Given the description of an element on the screen output the (x, y) to click on. 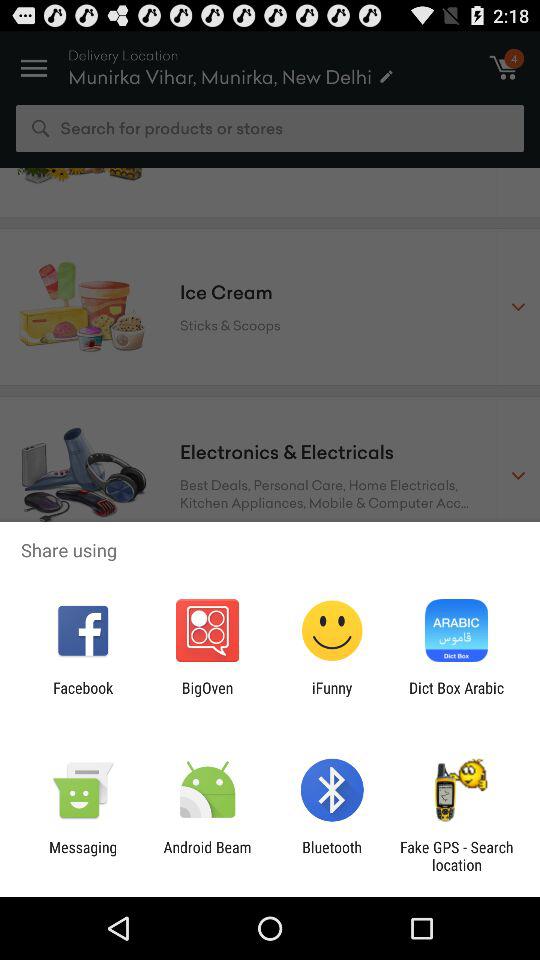
open the app next to the dict box arabic (332, 696)
